Given the description of an element on the screen output the (x, y) to click on. 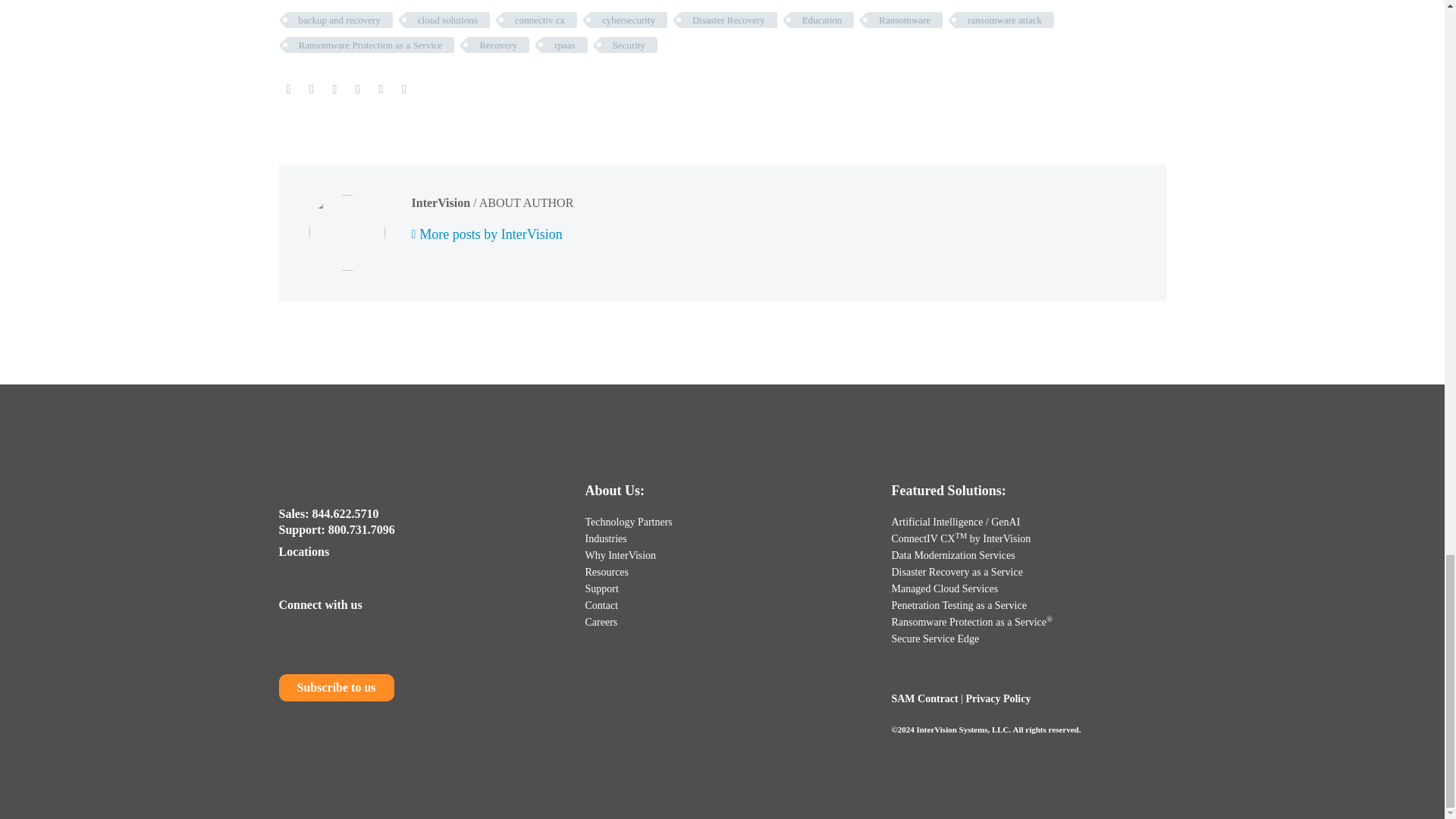
Tumblr (358, 89)
Facebook (288, 89)
LinkedIn (380, 89)
Pinterest (334, 89)
Twitter (311, 89)
